Given the description of an element on the screen output the (x, y) to click on. 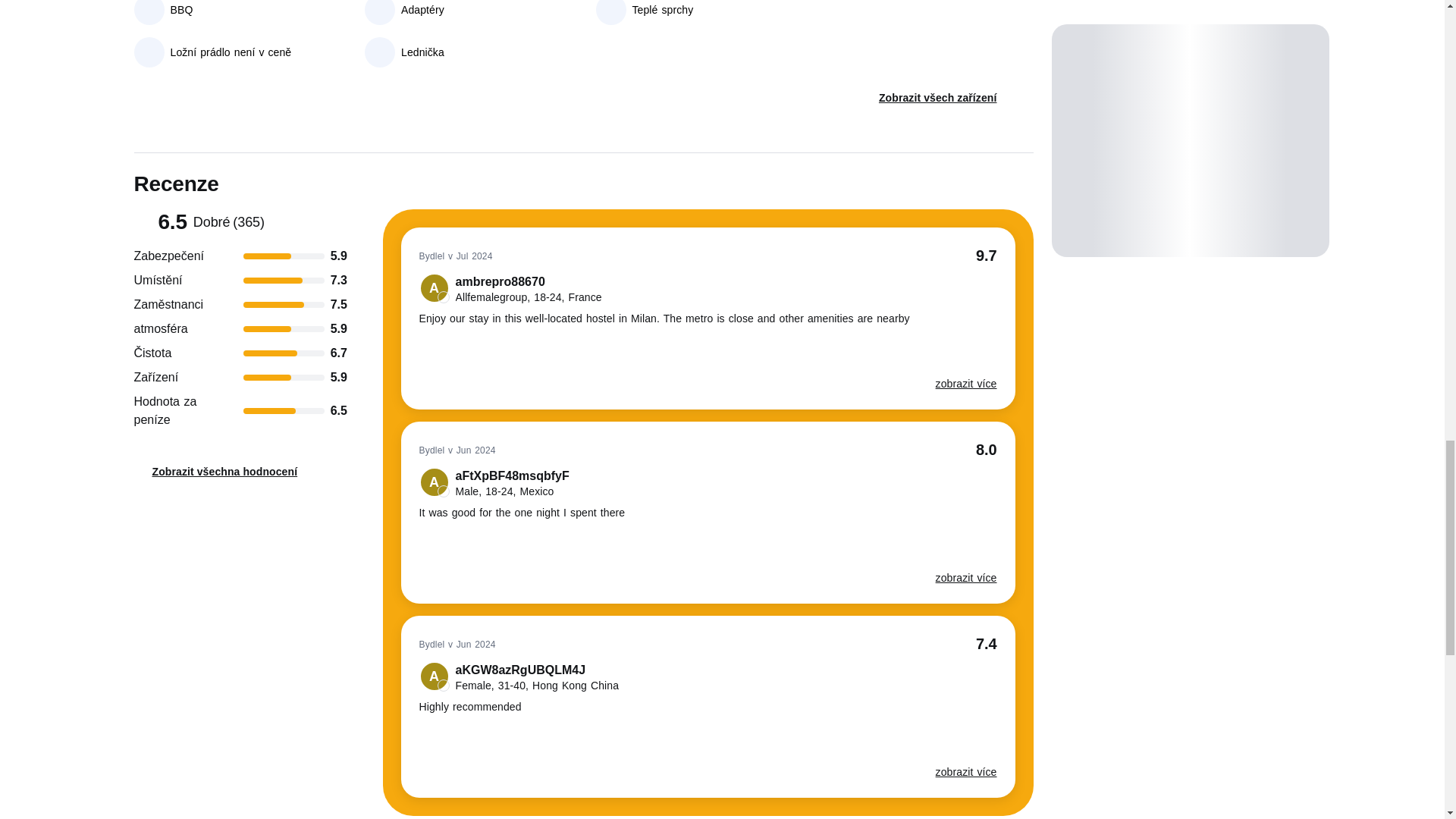
aFtXpBF48msqbfyF (494, 482)
ambrepro88670 (510, 288)
aKGW8azRgUBQLM4J (518, 676)
